Given the description of an element on the screen output the (x, y) to click on. 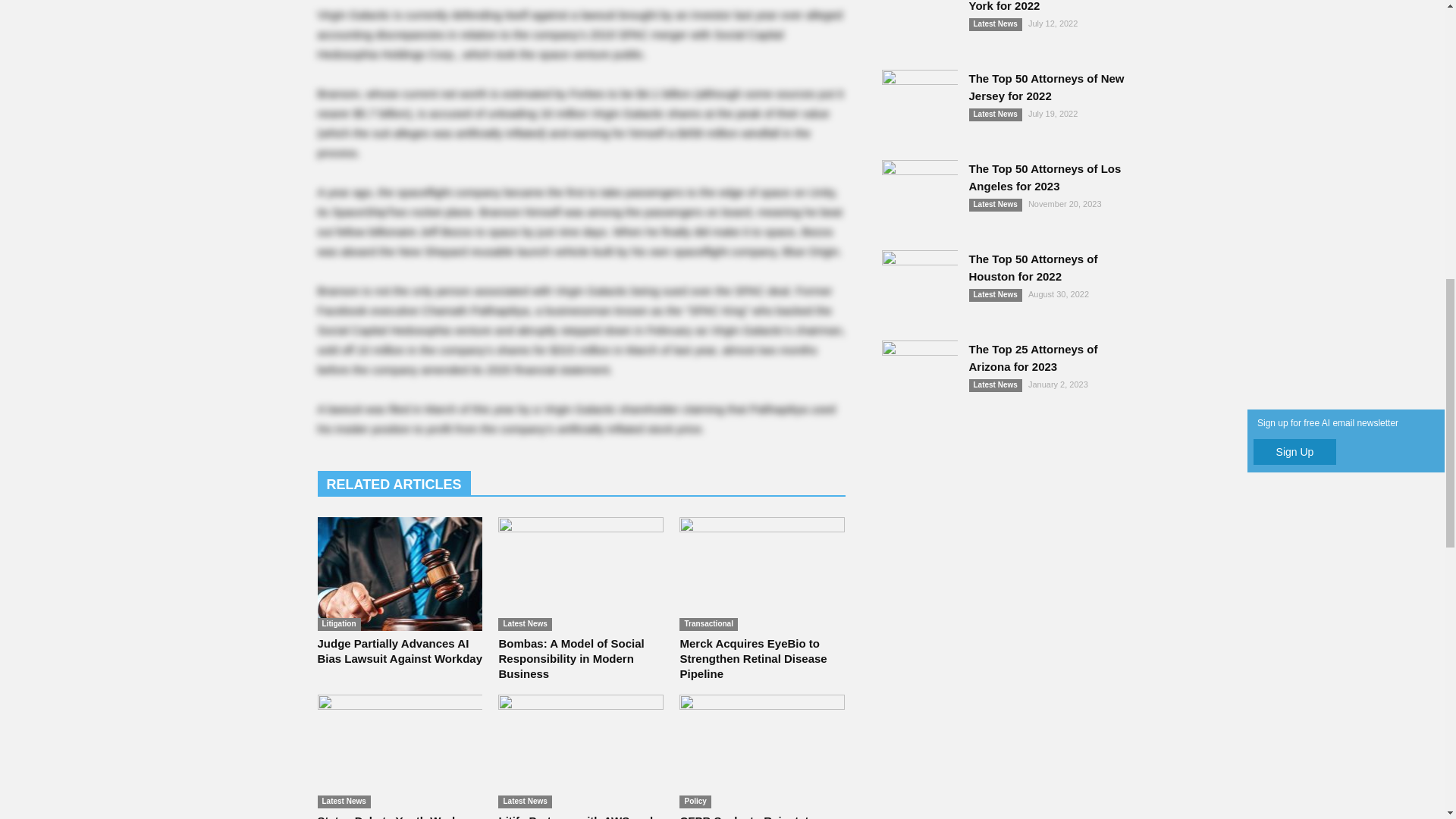
States Debate Youth Work Permits (387, 816)
RELATED ARTICLES (393, 482)
Bombas: A Model of Social Responsibility in Modern Business (580, 573)
States Debate Youth Work Permits (399, 751)
Merck Acquires EyeBio to Strengthen Retinal Disease Pipeline (753, 658)
Judge Partially Advances AI Bias Lawsuit Against Workday (399, 651)
Judge Partially Advances AI Bias Lawsuit Against Workday (399, 573)
Bombas: A Model of Social Responsibility in Modern Business (570, 658)
Merck Acquires EyeBio to Strengthen Retinal Disease Pipeline (761, 573)
